Given the description of an element on the screen output the (x, y) to click on. 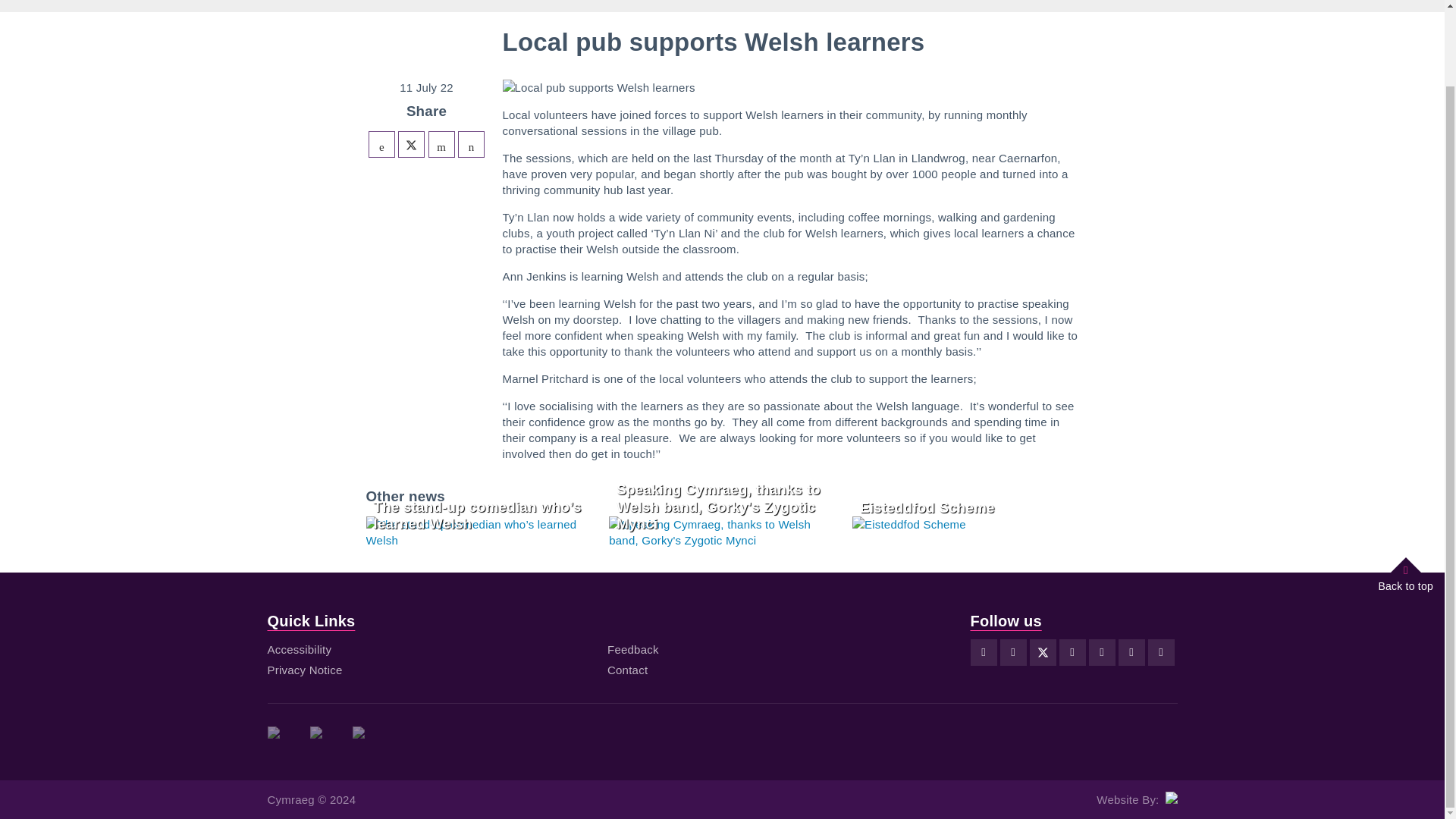
Share Local pub supports Welsh learners  on Twitter (411, 144)
Share Local pub supports Welsh learners  on LinkedIn (441, 144)
Local pub supports Welsh learners  (471, 144)
Share Local pub supports Welsh learners  on Facebook (381, 144)
